Given the description of an element on the screen output the (x, y) to click on. 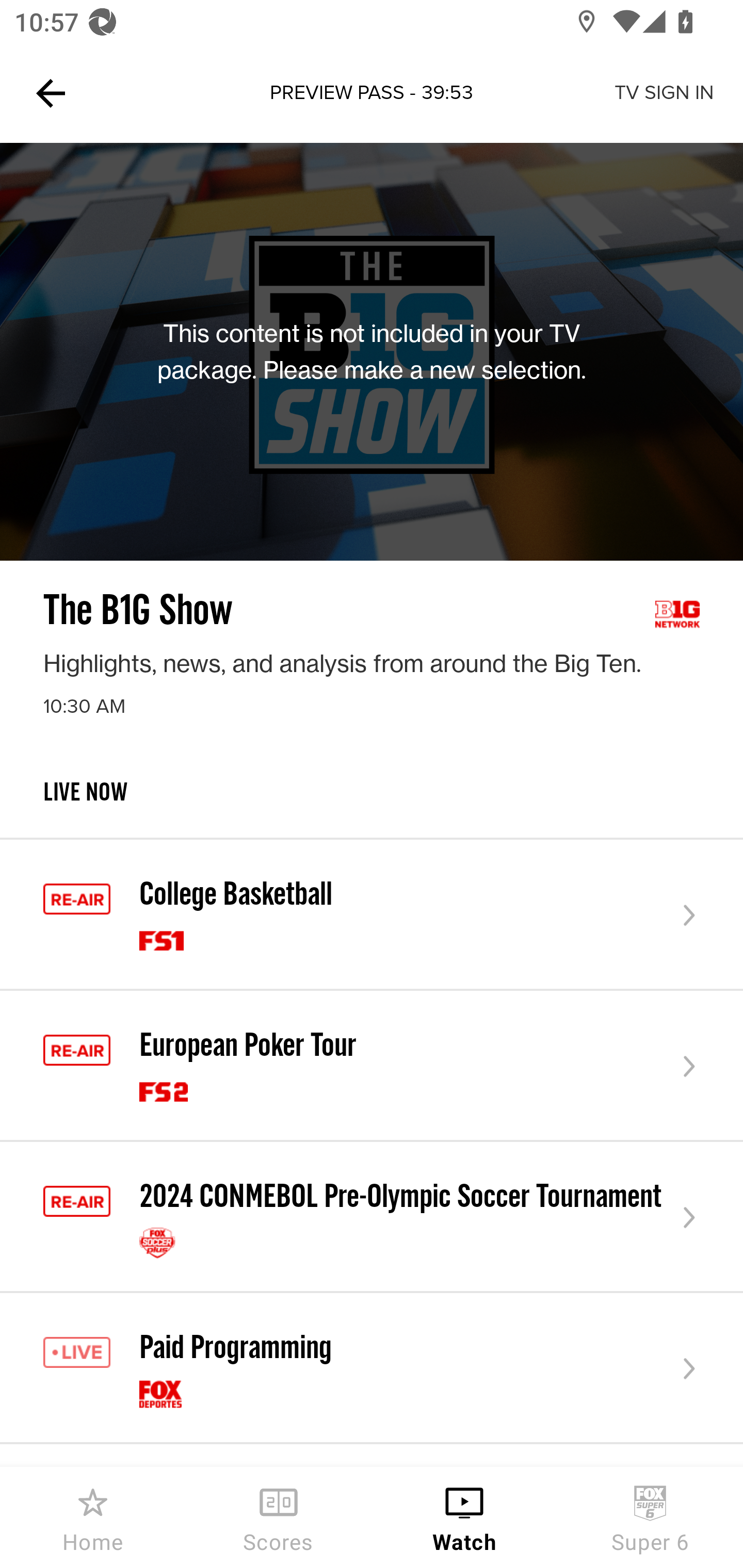
Navigate up (50, 92)
TV SIGN IN (664, 93)
LIVE NOW (371, 808)
College Basketball (371, 915)
European Poker Tour (371, 1065)
2024 CONMEBOL Pre-Olympic Soccer Tournament (371, 1217)
Paid Programming (371, 1368)
Home (92, 1517)
Scores (278, 1517)
Super 6 (650, 1517)
